Given the description of an element on the screen output the (x, y) to click on. 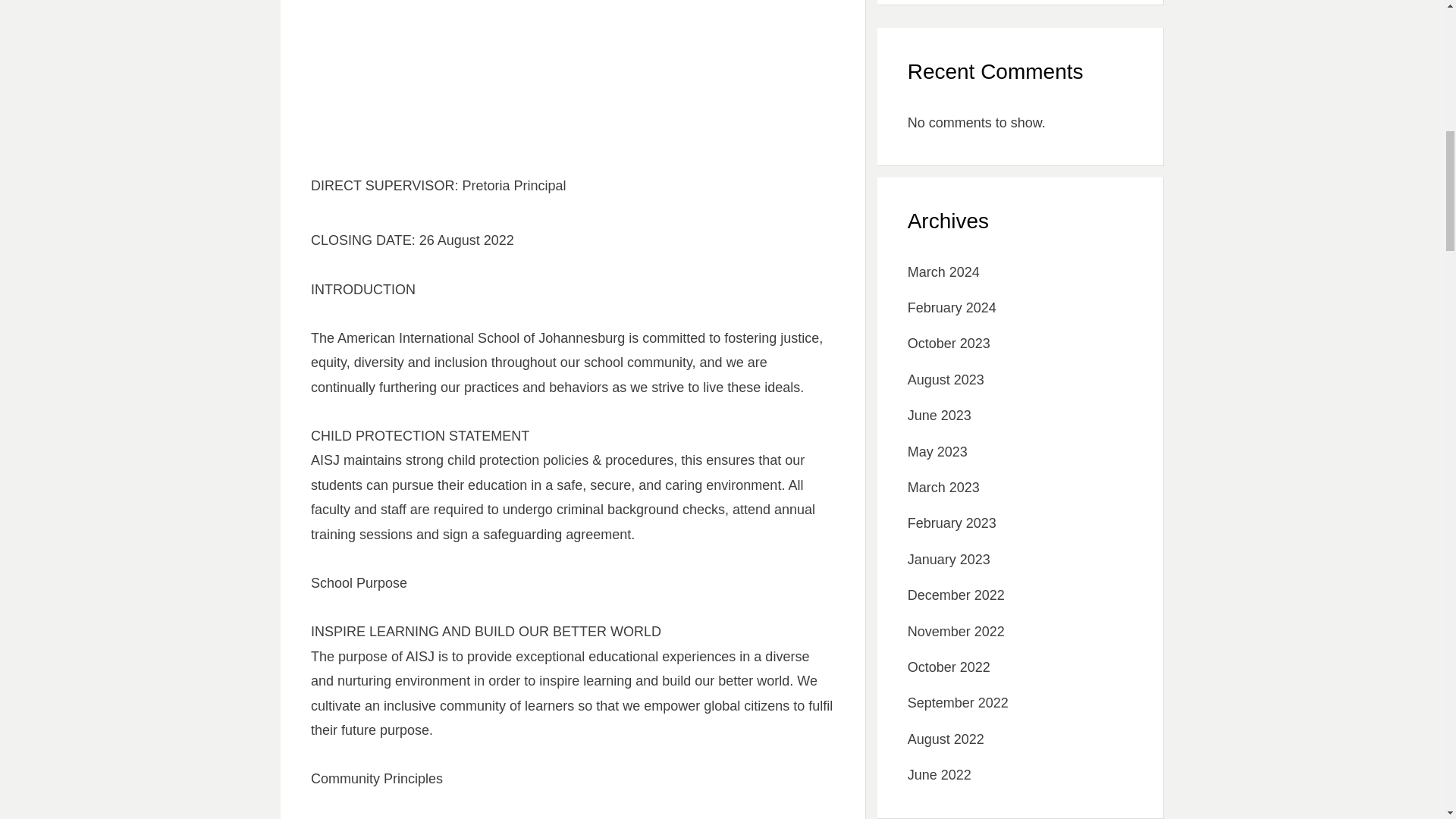
January 2023 (948, 559)
June 2023 (939, 415)
August 2022 (945, 739)
October 2022 (948, 667)
February 2024 (951, 307)
November 2022 (955, 631)
September 2022 (958, 702)
December 2022 (955, 595)
May 2023 (937, 451)
March 2024 (943, 272)
